Given the description of an element on the screen output the (x, y) to click on. 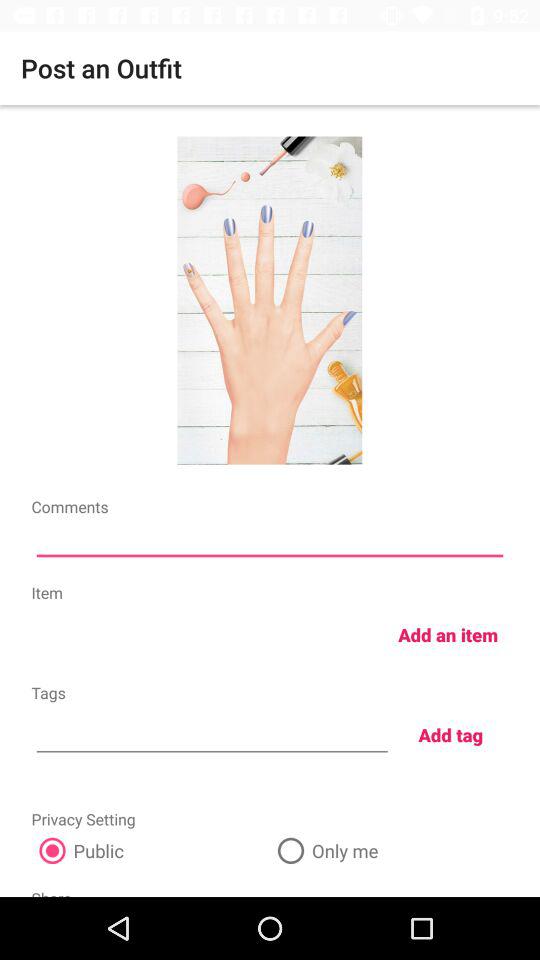
type any comments (269, 541)
